Given the description of an element on the screen output the (x, y) to click on. 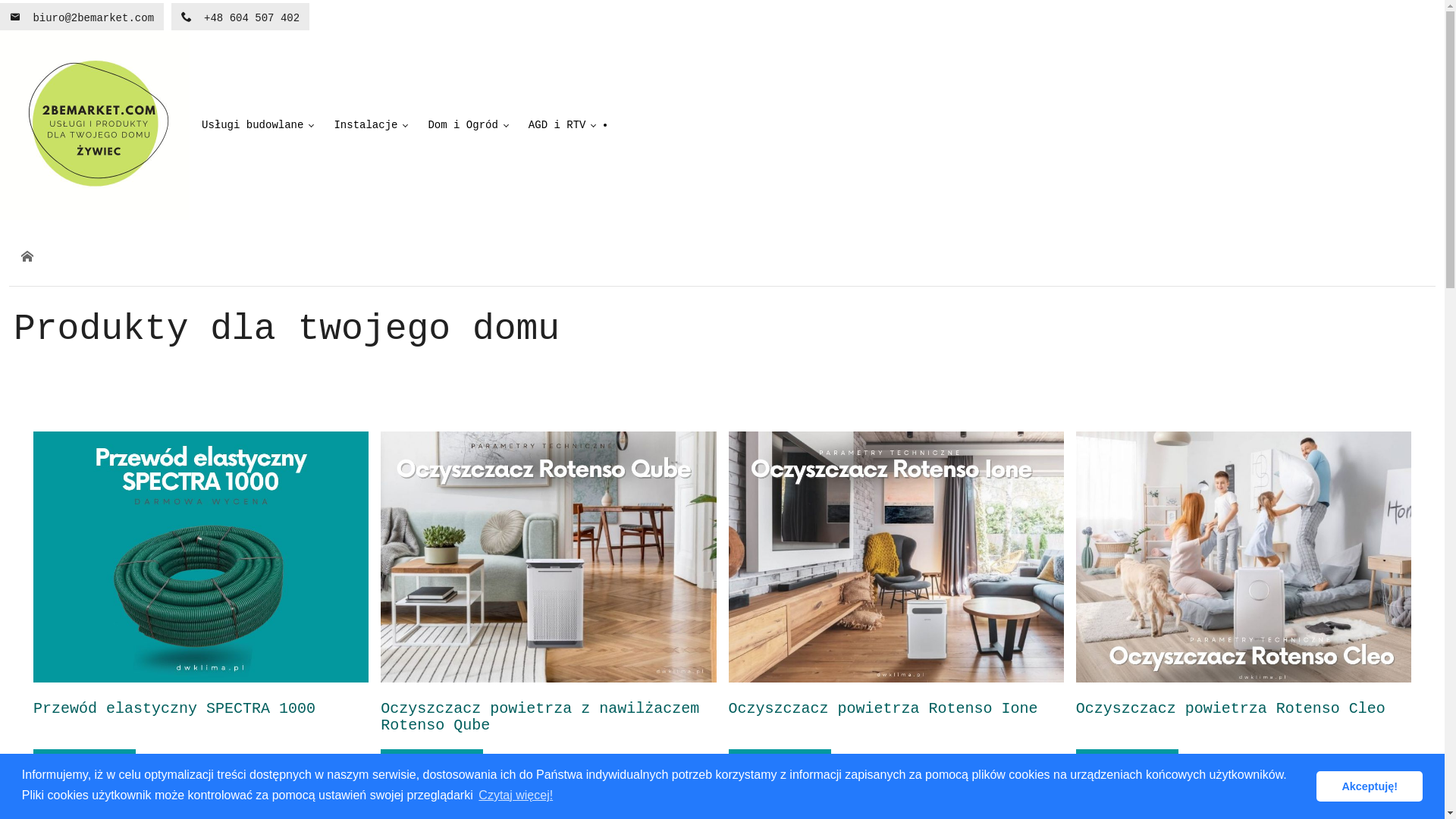
biuro@2bemarket.com Element type: text (81, 16)
Oczyszczacz powietrza Rotenso Ione Element type: text (882, 708)
Oczyszczacz powietrza Rotenso Cleo Element type: text (1230, 708)
+48 604 507 402 Element type: text (240, 16)
AGD i RTV Element type: text (560, 124)
Instalacje Element type: text (368, 124)
Oczyszczacz powietrza Rotenso Cleo Element type: hover (1243, 557)
